Given the description of an element on the screen output the (x, y) to click on. 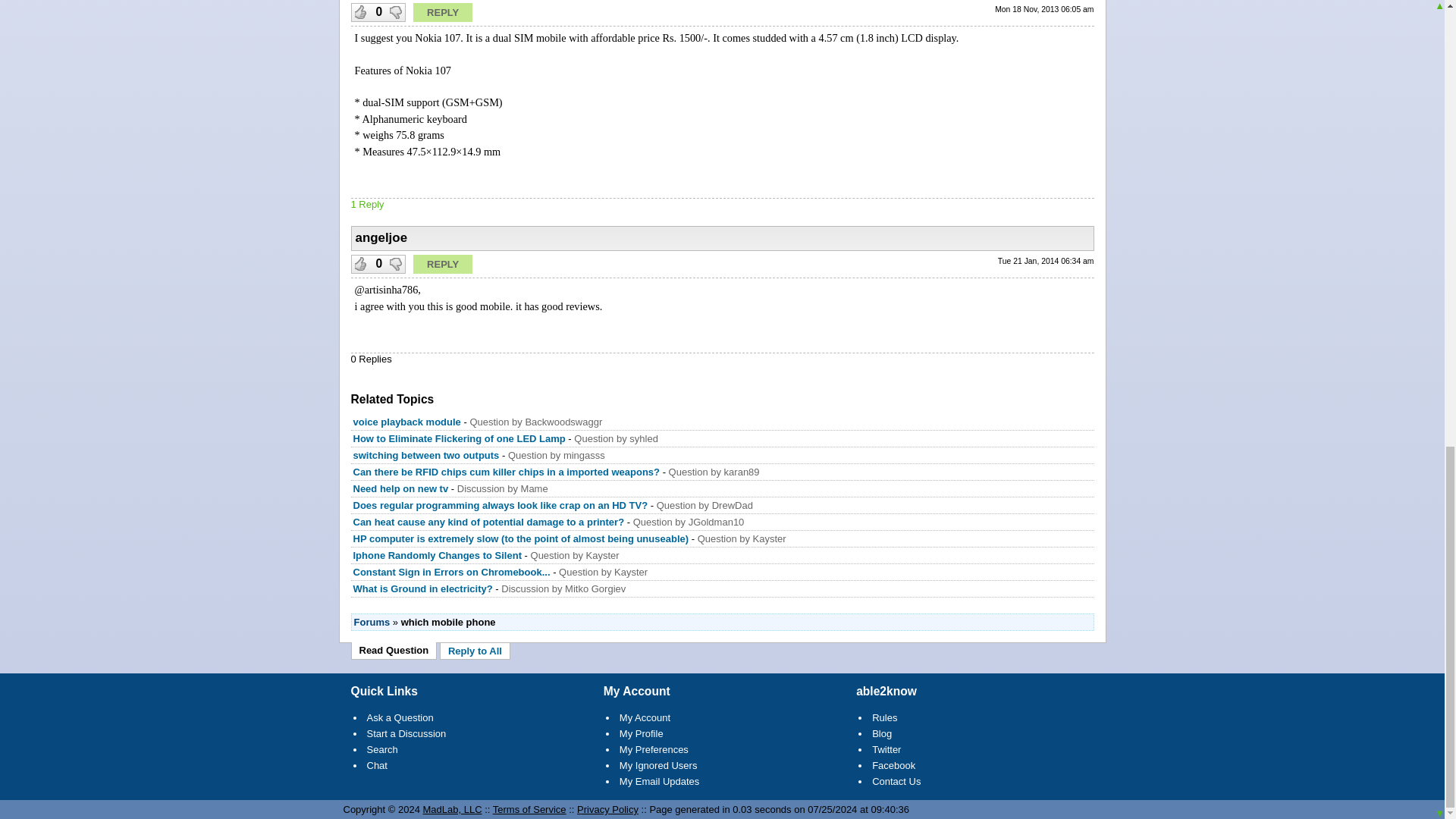
Iphone Randomly Changes to Silent (438, 555)
Ask a Question (399, 717)
Start a Discussion (406, 733)
voice playback module (407, 421)
Forums (371, 622)
Reply (442, 12)
How to Eliminate Flickering of one LED Lamp (459, 438)
Does regular programming always look like crap on an HD TV? (500, 505)
Reply to All (475, 651)
What is Ground in electricity? (423, 588)
Can heat cause any kind of potential damage to a printer? (488, 521)
switching between two outputs (426, 455)
Reply (442, 263)
Need help on new tv (400, 488)
